Given the description of an element on the screen output the (x, y) to click on. 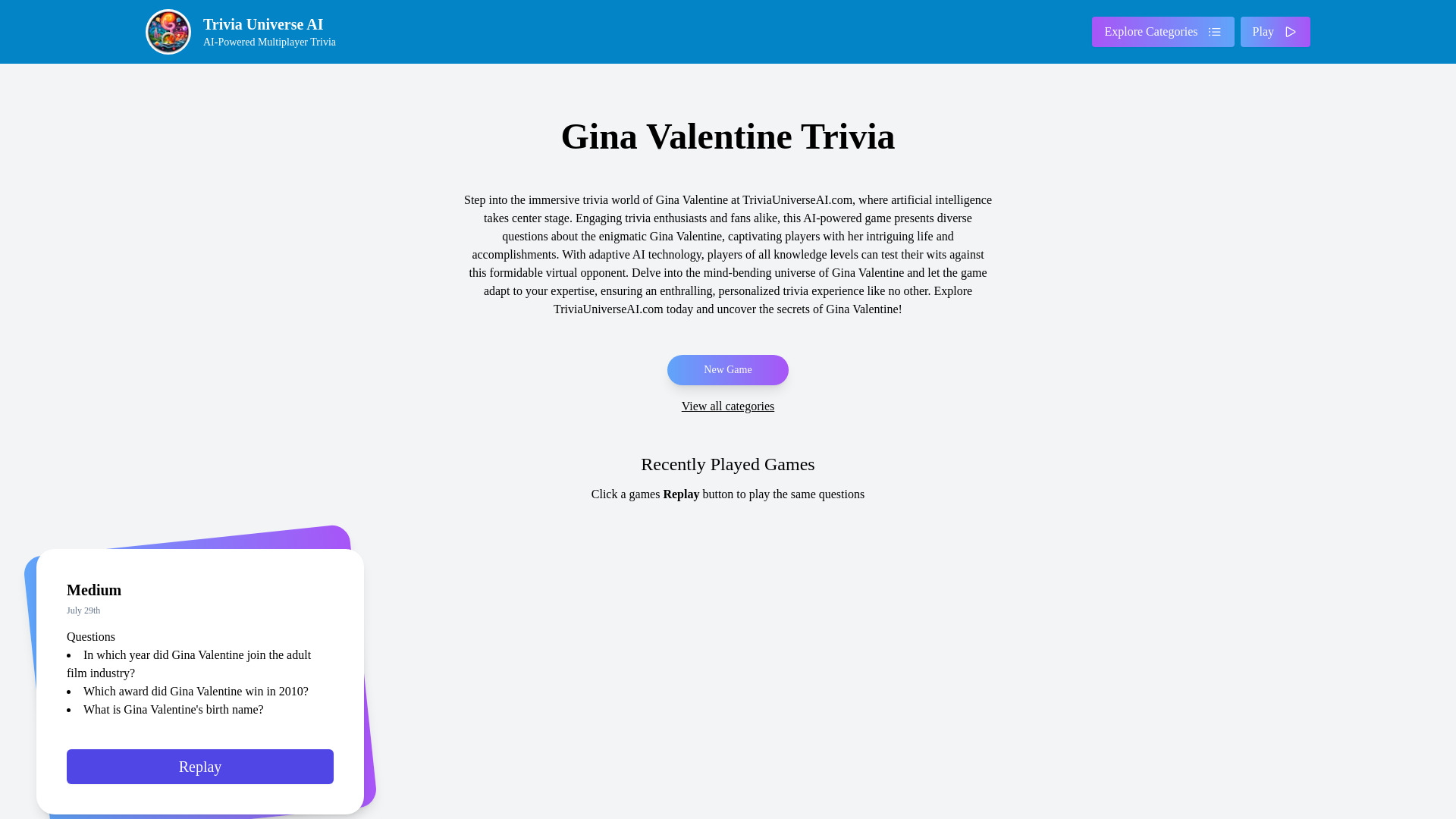
Explore Categories (1162, 31)
Replay (199, 773)
View all categories (727, 406)
New Game (246, 31)
Play (726, 369)
